Given the description of an element on the screen output the (x, y) to click on. 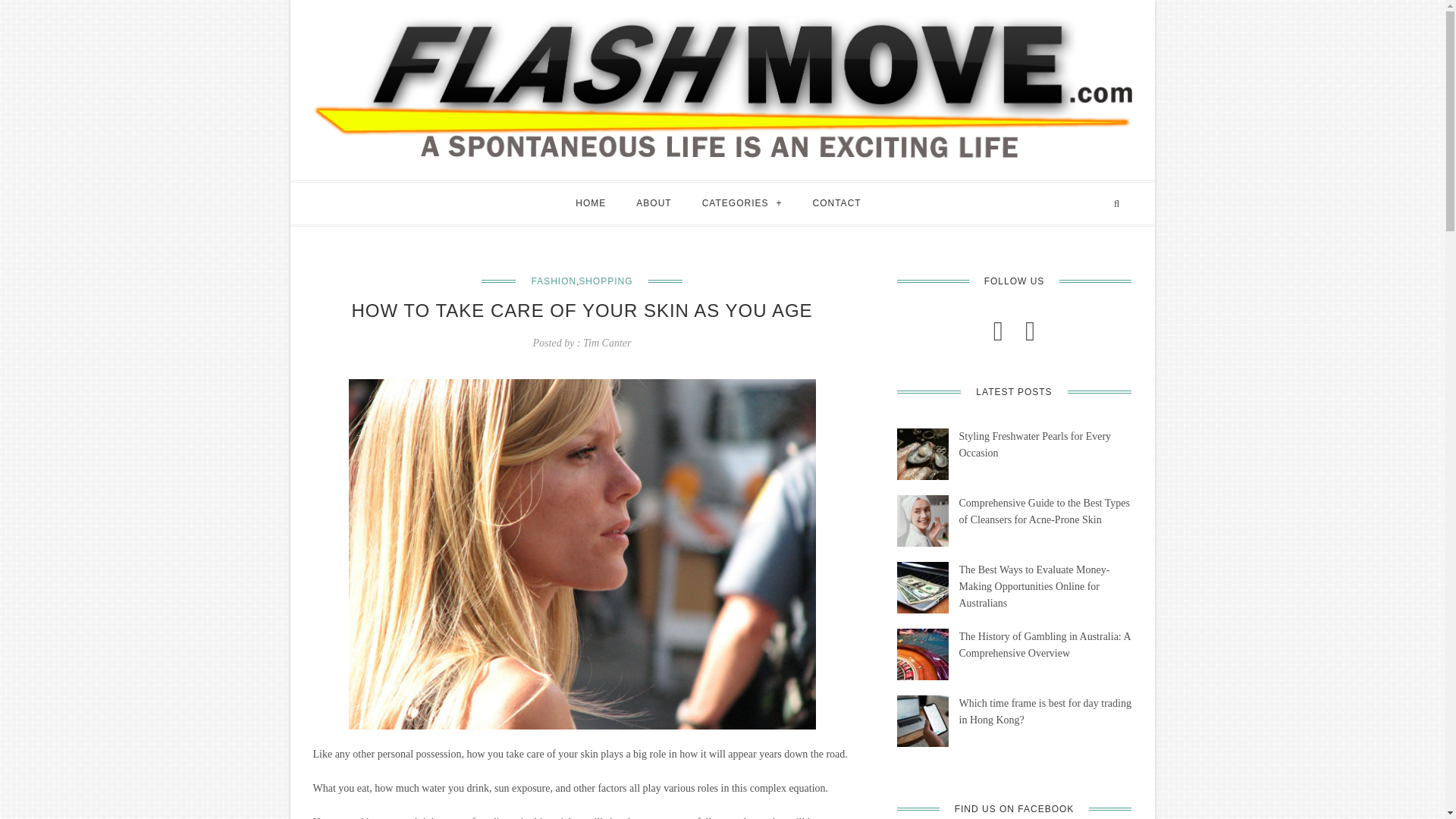
CATEGORIES (741, 203)
HOME (590, 203)
Posts by Tim Canter (606, 342)
SHOPPING (604, 281)
Which time frame is best for day trading in Hong Kong? (921, 720)
FASHION (553, 281)
Flashmove.com (722, 86)
CONTACT (837, 203)
Styling Freshwater Pearls for Every Occasion (921, 453)
ABOUT (653, 203)
